Given the description of an element on the screen output the (x, y) to click on. 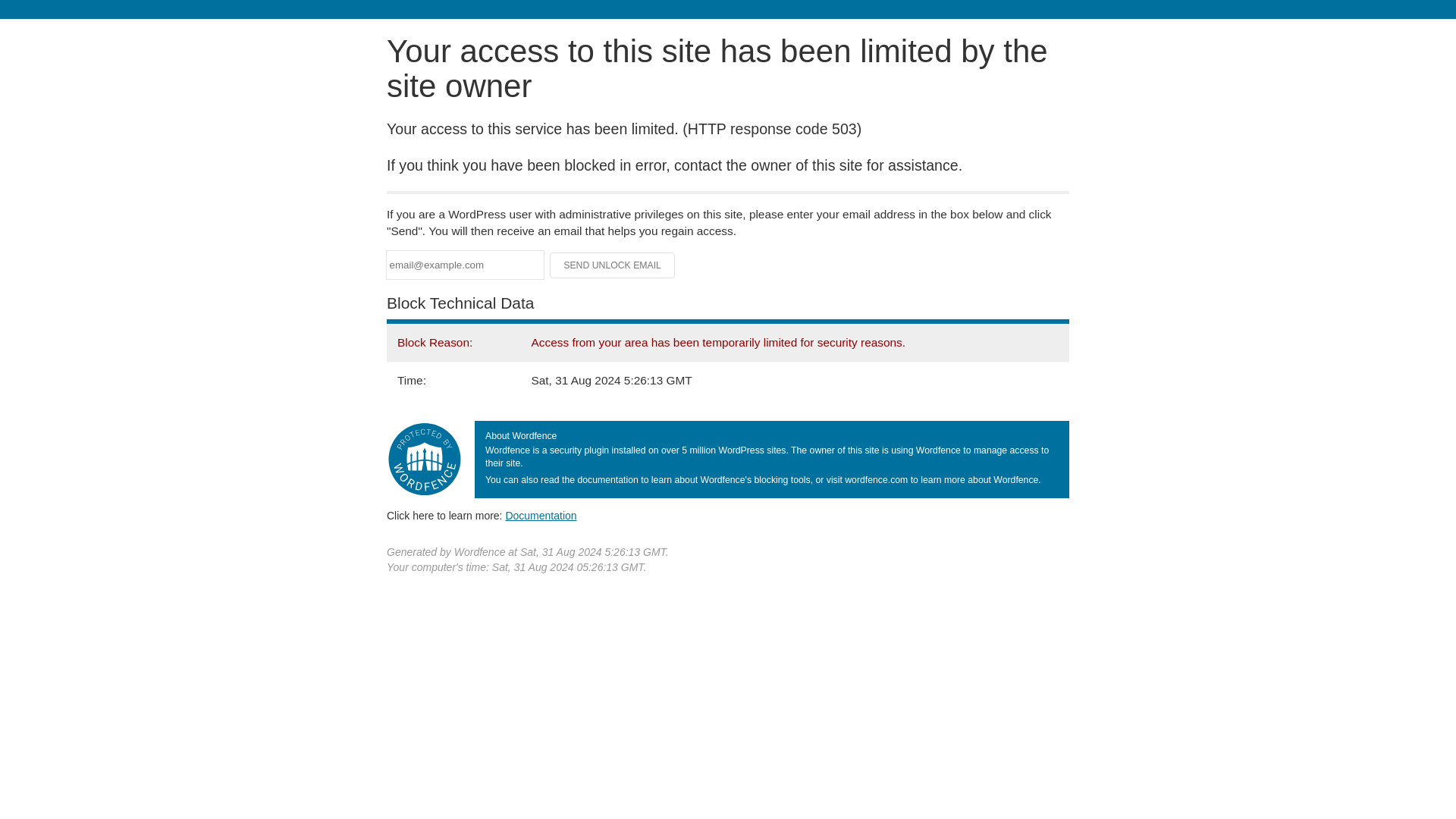
Send Unlock Email (612, 265)
Send Unlock Email (612, 265)
Documentation (540, 515)
